Given the description of an element on the screen output the (x, y) to click on. 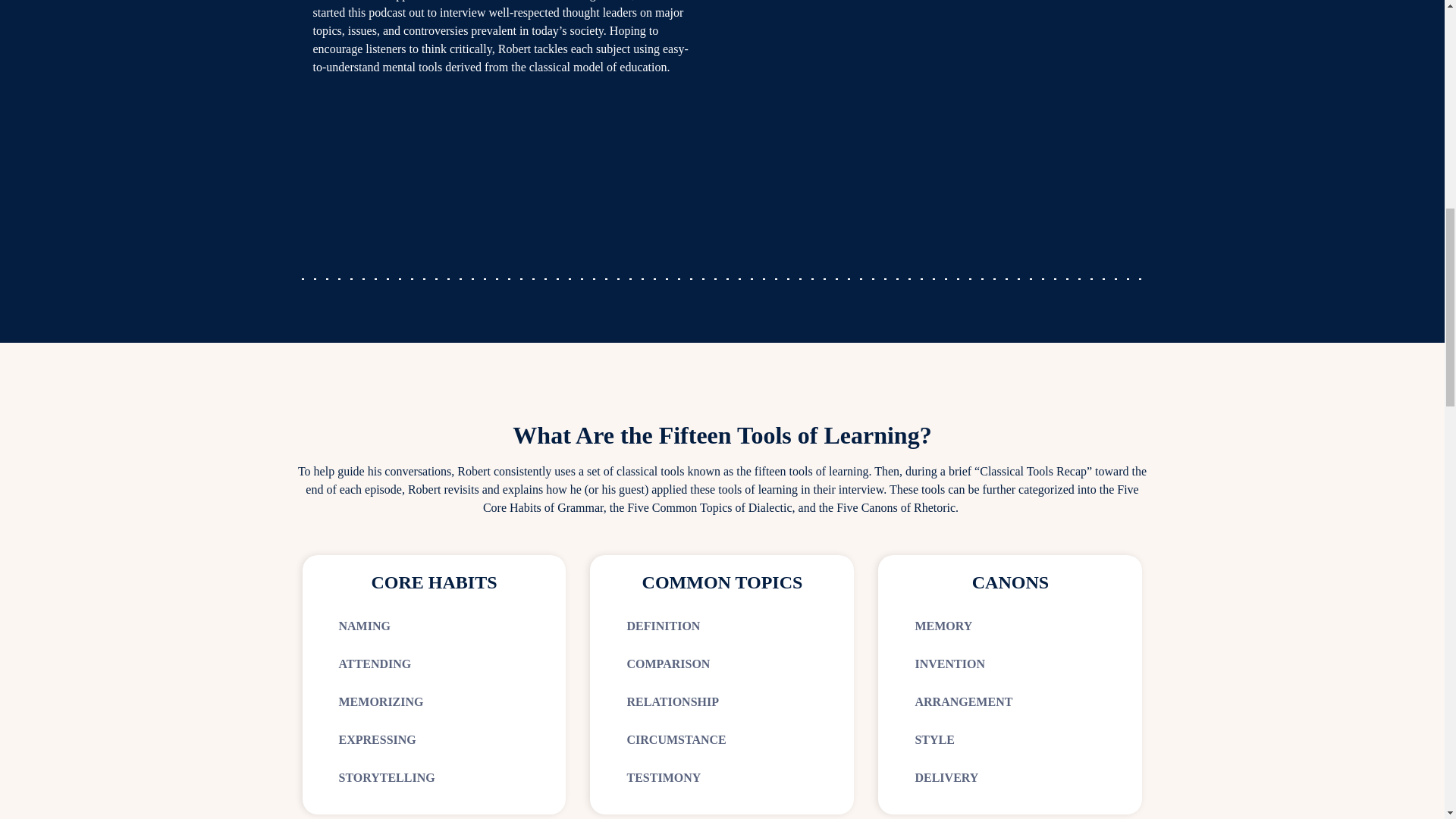
MEMORIZING (380, 701)
COMPARISON (668, 663)
ARRANGEMENT (962, 701)
NAMING (363, 625)
DEFINITION (663, 625)
CIRCUMSTANCE (675, 739)
EXPRESSING (375, 739)
STORYTELLING (385, 777)
ATTENDING (373, 663)
INVENTION (949, 663)
STYLE (933, 739)
DELIVERY (946, 777)
MEMORY (943, 625)
RELATIONSHIP (672, 701)
TESTIMONY (663, 777)
